Given the description of an element on the screen output the (x, y) to click on. 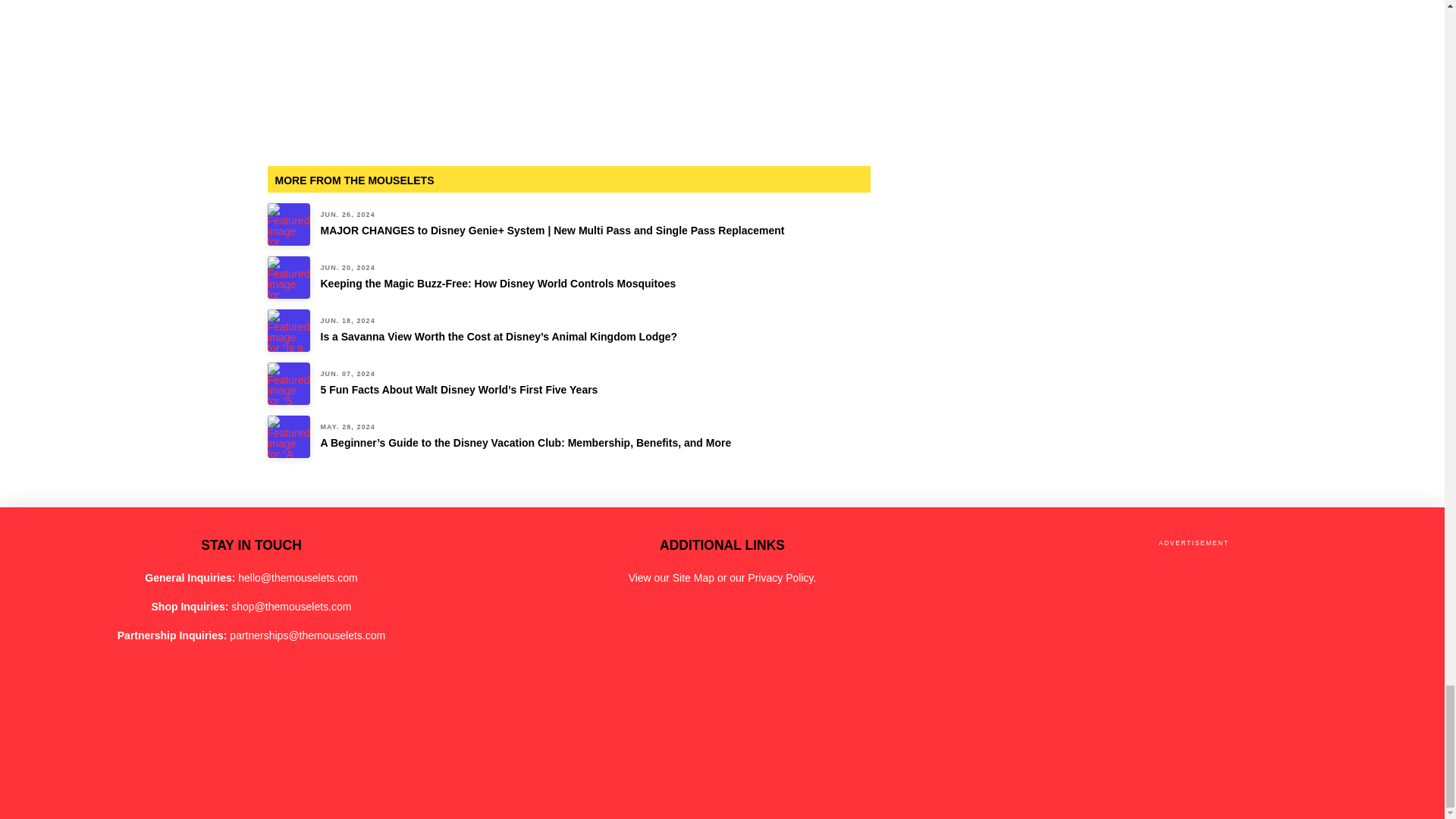
Site Map (693, 577)
Privacy Policy (780, 577)
